Given the description of an element on the screen output the (x, y) to click on. 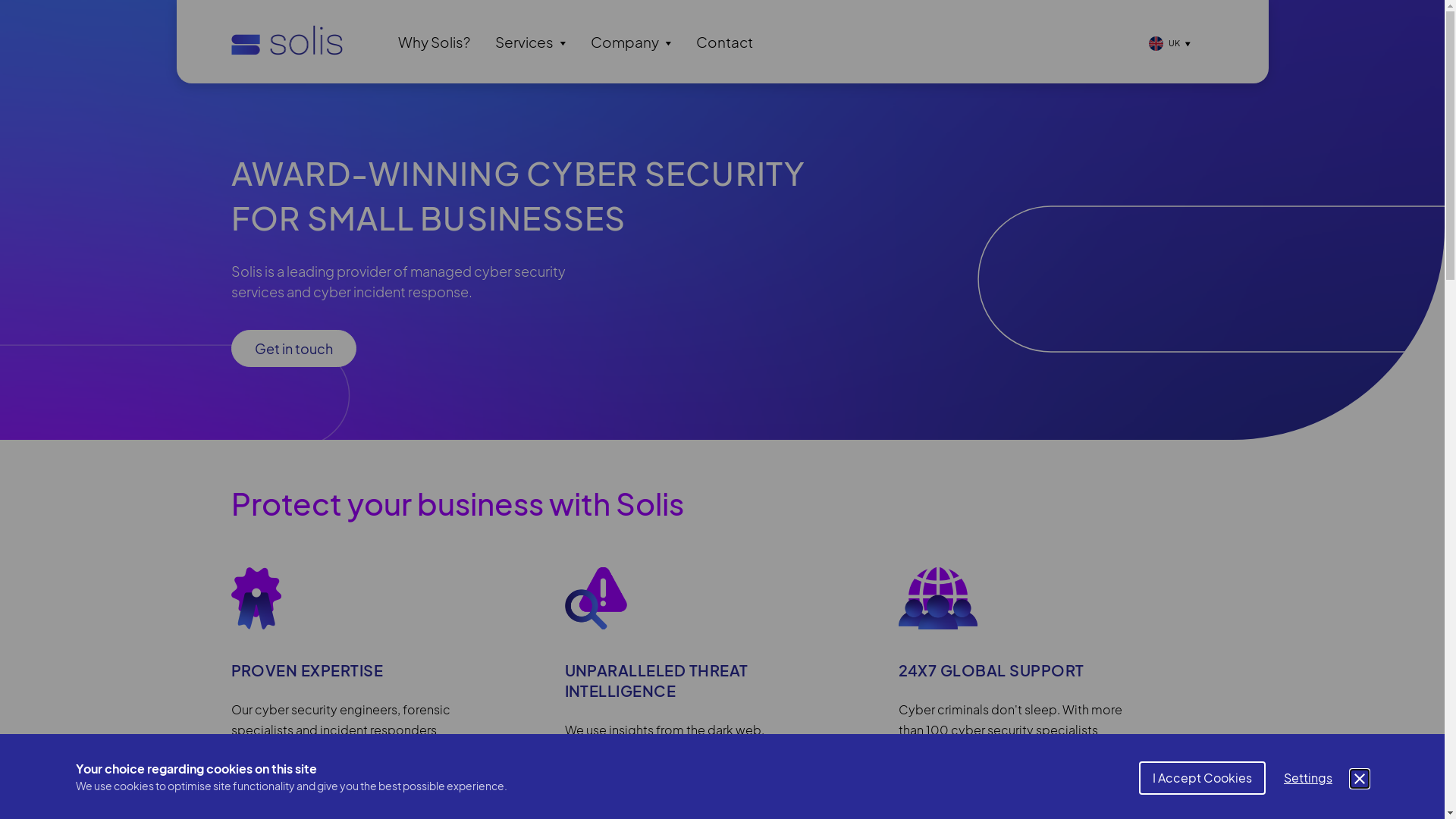
Contact Element type: text (724, 41)
UK Element type: text (1168, 42)
Get in touch Element type: text (292, 348)
Why Solis? Element type: text (433, 41)
Company Element type: text (629, 41)
Services Element type: text (529, 41)
I Accept Cookies Element type: text (1202, 777)
Settings Element type: text (1307, 777)
